Given the description of an element on the screen output the (x, y) to click on. 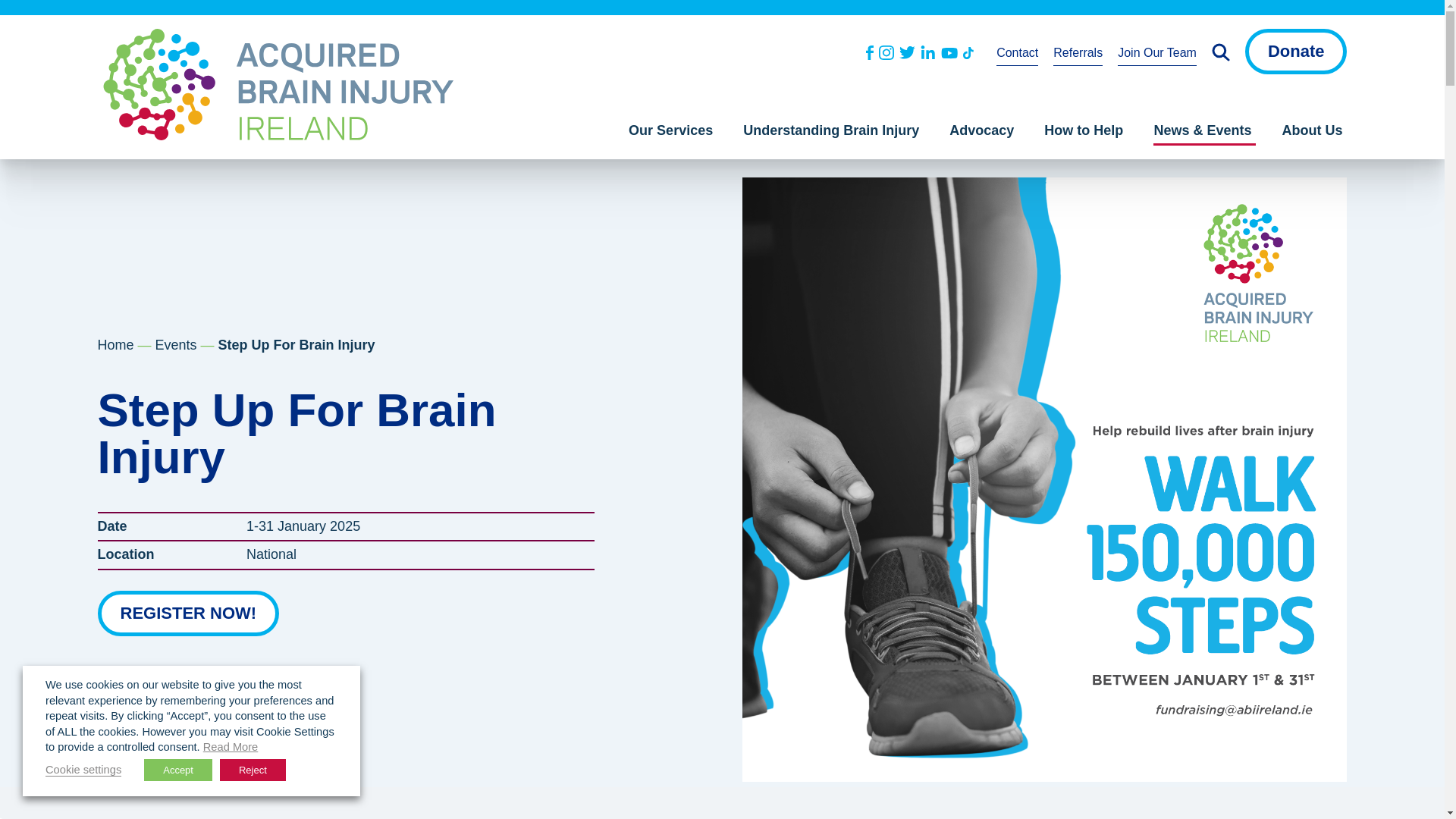
Donate (1296, 51)
Our Services (672, 133)
Referrals (1077, 55)
Understanding Brain Injury (832, 133)
Join Our Team (1157, 55)
Contact (1016, 55)
